Given the description of an element on the screen output the (x, y) to click on. 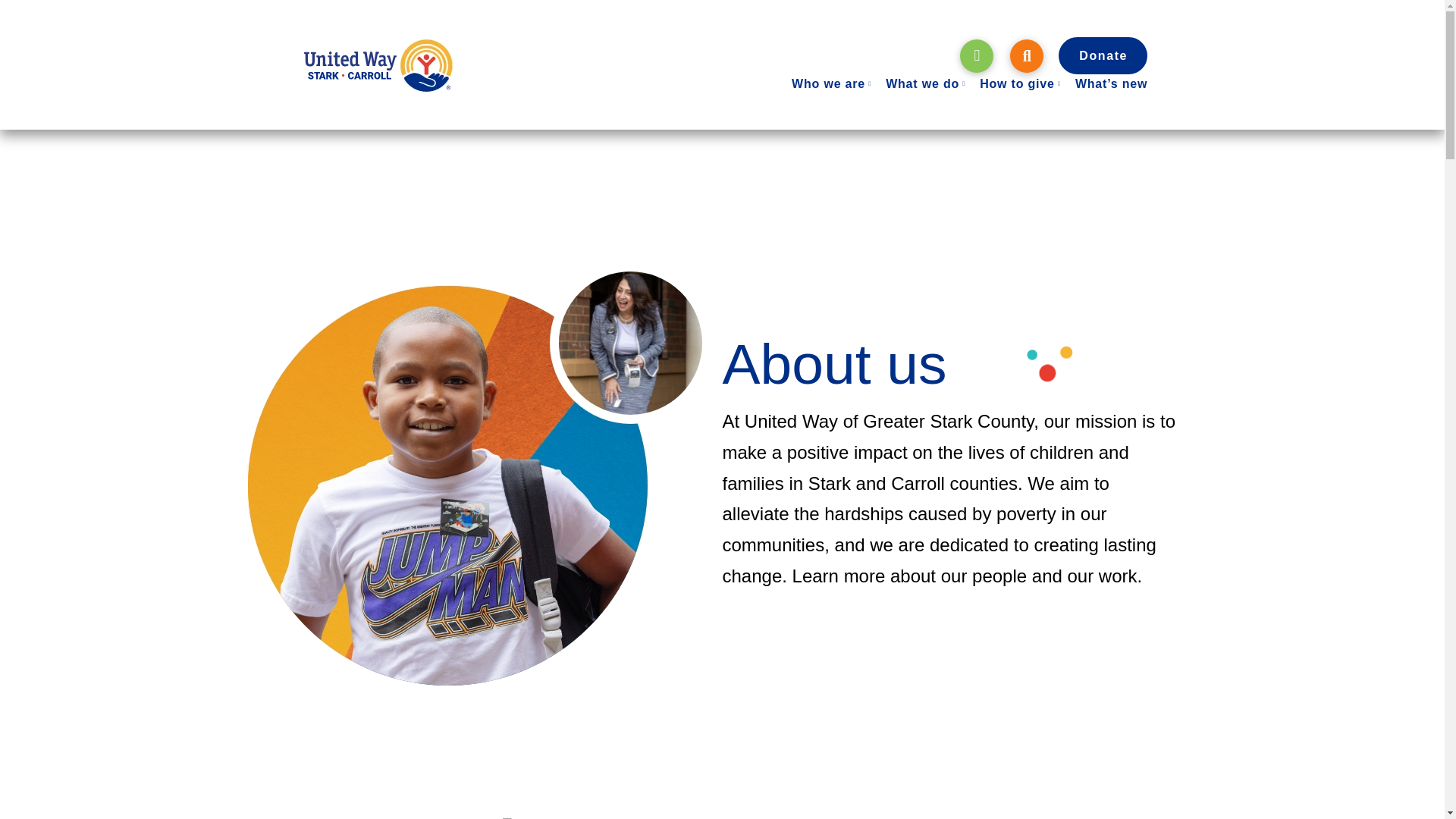
Donate (1102, 55)
How to give (1019, 84)
What we do (924, 84)
Who we are (831, 84)
